Given the description of an element on the screen output the (x, y) to click on. 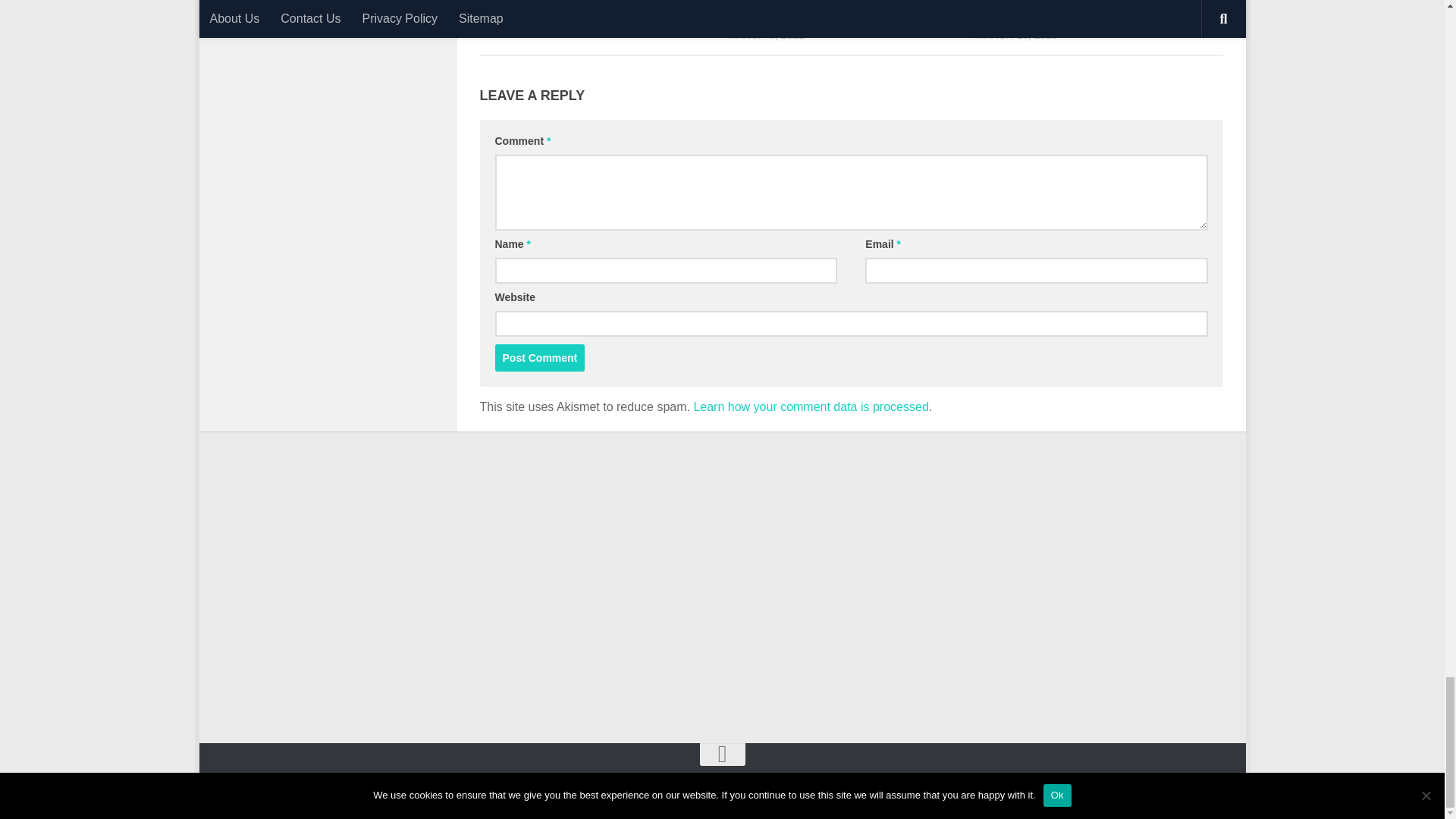
Post Comment (540, 357)
